Given the description of an element on the screen output the (x, y) to click on. 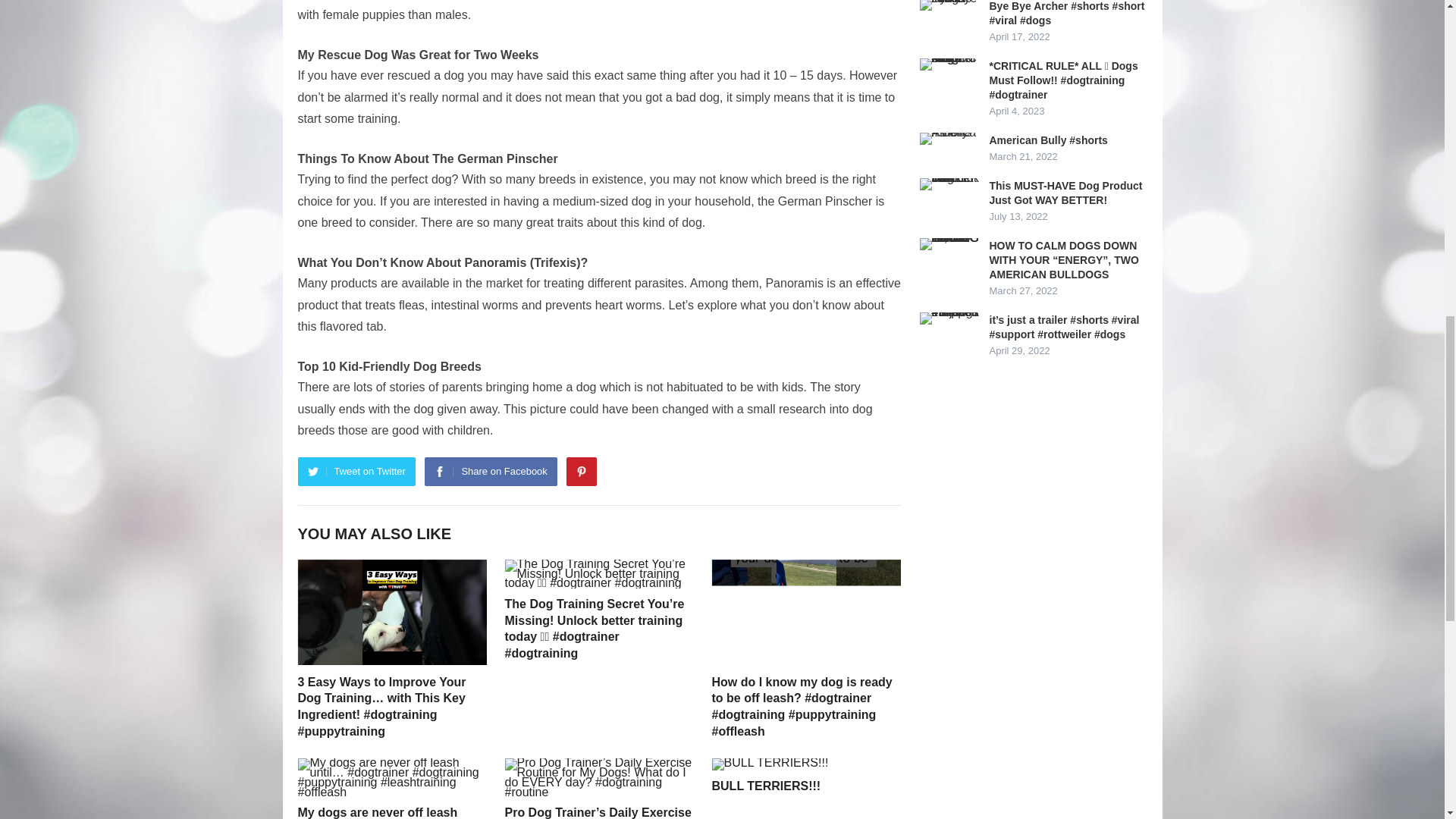
Share on Facebook (490, 471)
BULL TERRIERS!!! 12 (769, 764)
Tweet on Twitter (355, 471)
Pinterest (581, 471)
